Given the description of an element on the screen output the (x, y) to click on. 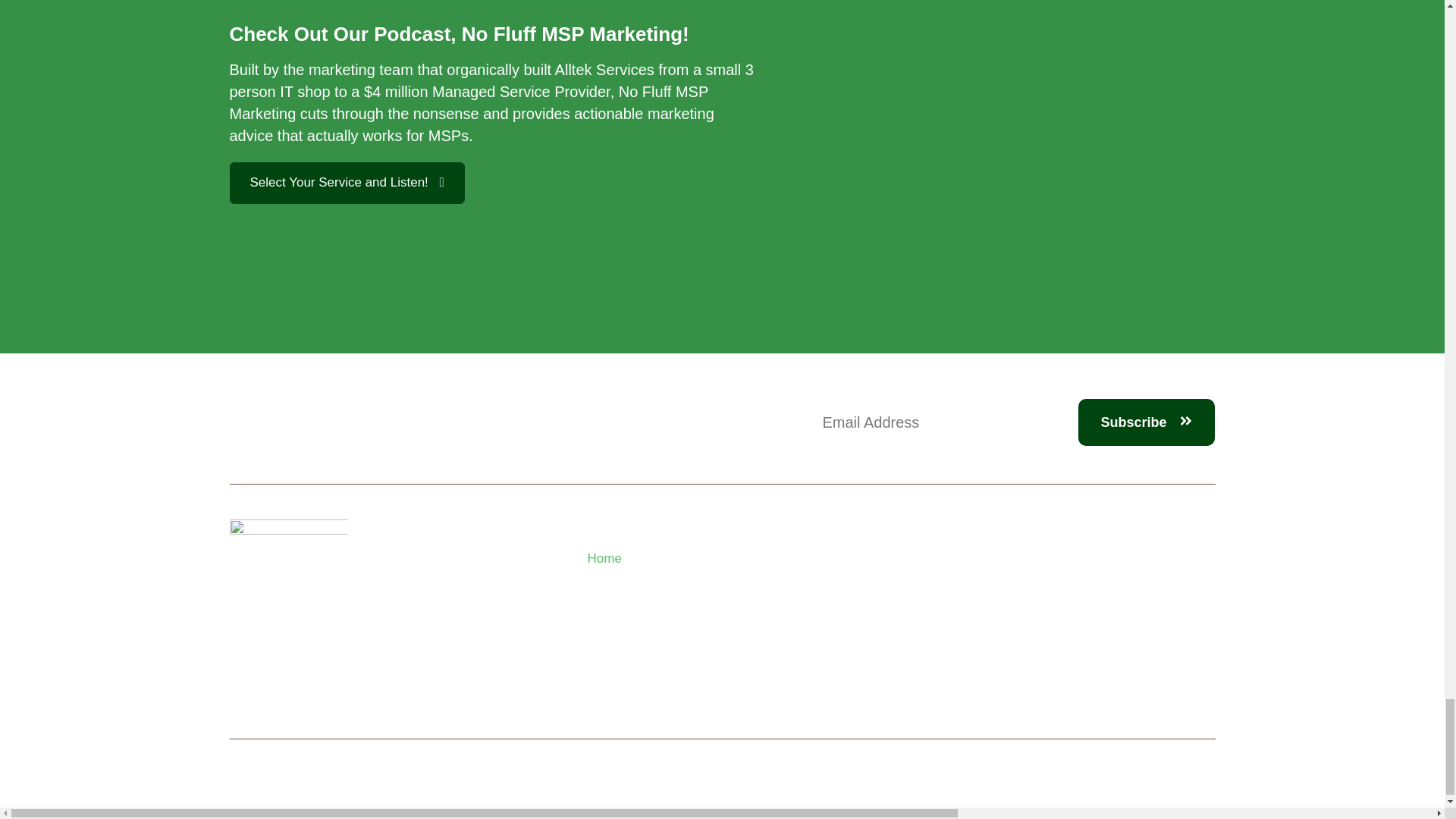
Partner Page (670, 631)
Privacy Policy (670, 655)
Plans (670, 582)
Blog (670, 607)
Select Your Service and Listen! (346, 182)
Subscribe (1146, 421)
Home (670, 558)
